Given the description of an element on the screen output the (x, y) to click on. 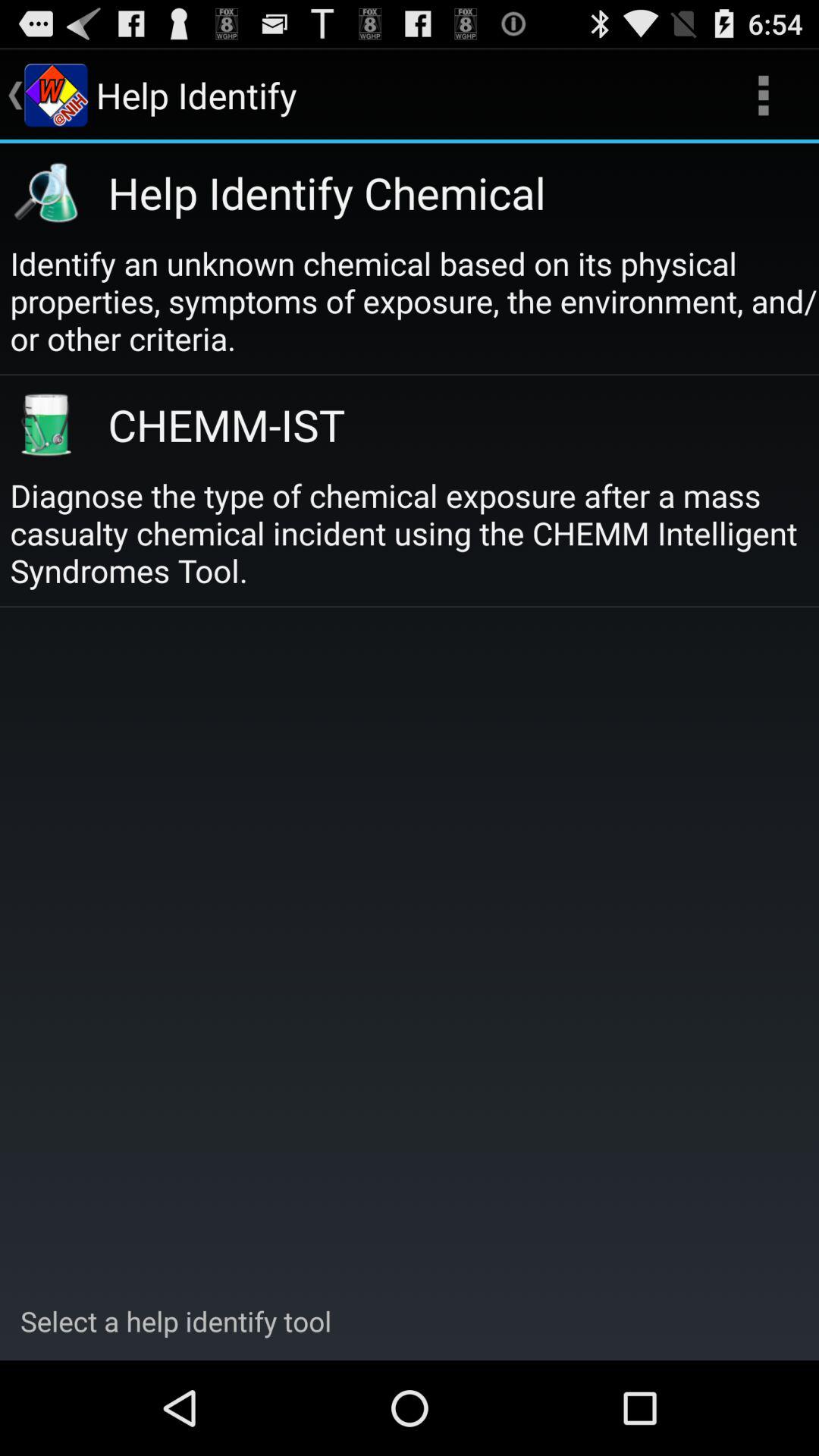
turn on app to the right of the help identify app (763, 95)
